Given the description of an element on the screen output the (x, y) to click on. 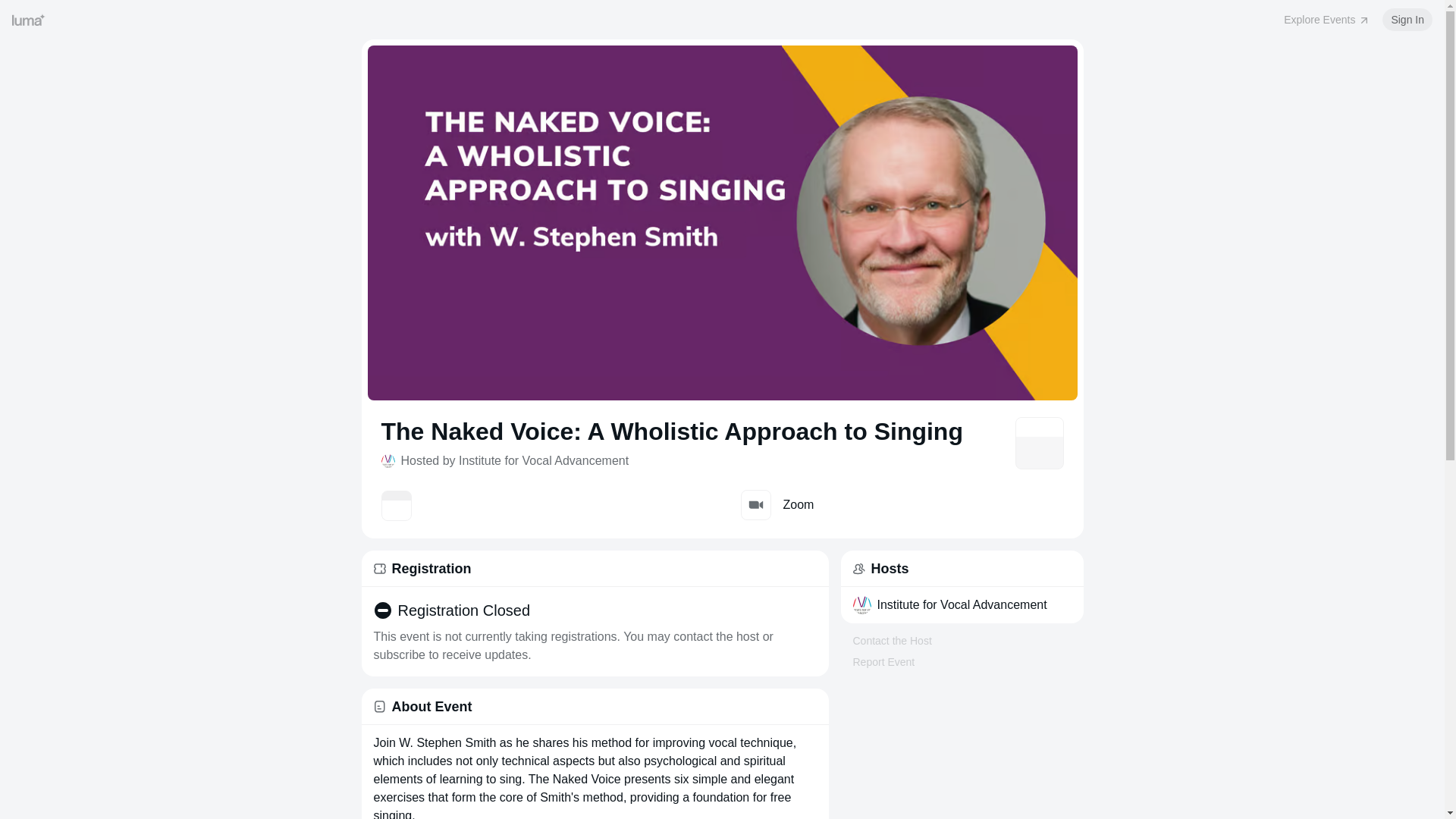
Institute for Vocal Advancement (960, 605)
Explore Events (1327, 19)
Institute for Vocal Advancement (961, 605)
Sign In (1406, 19)
Report Event (882, 661)
Contact the Host (891, 640)
